Given the description of an element on the screen output the (x, y) to click on. 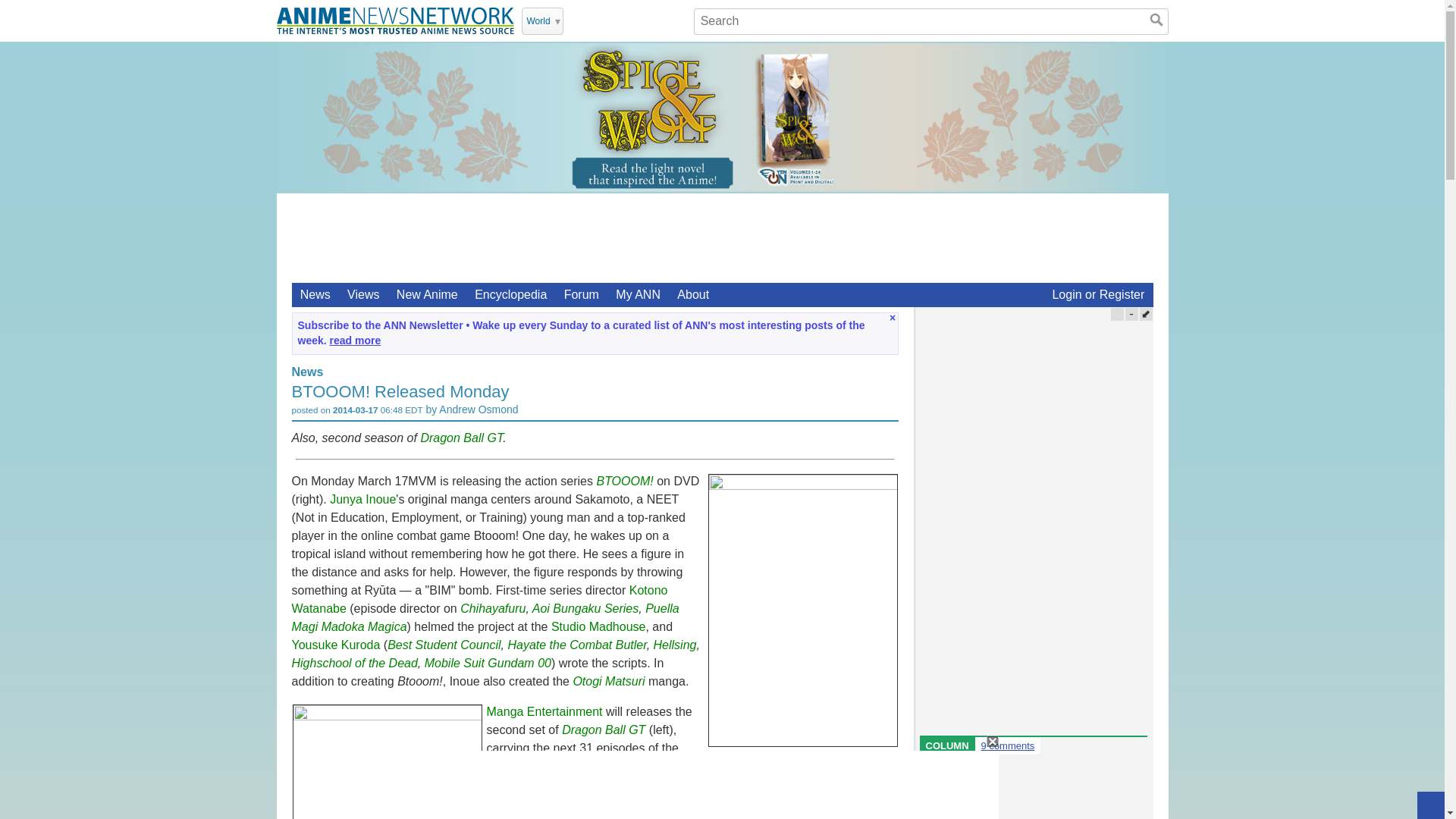
Instagram (636, 20)
Facebook (617, 20)
Bluesky (675, 20)
Twitter (577, 20)
Youtube (597, 20)
Return to Homepage (394, 20)
TikTok (656, 20)
Choose Your Edition (542, 21)
